Given the description of an element on the screen output the (x, y) to click on. 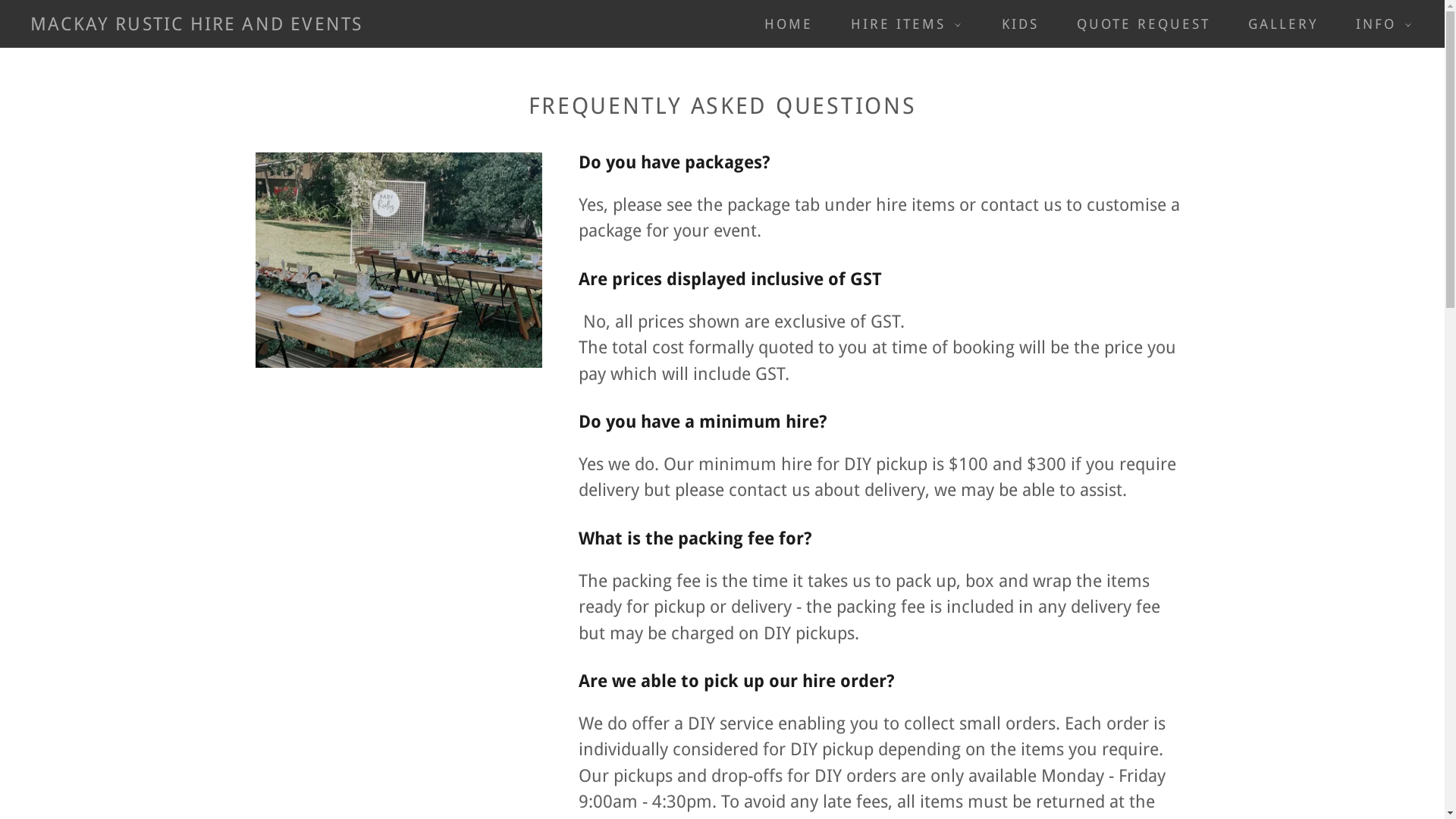
GALLERY Element type: text (1276, 23)
HIRE ITEMS Element type: text (900, 24)
KIDS Element type: text (1013, 23)
MACKAY RUSTIC HIRE AND EVENTS Element type: text (196, 24)
QUOTE REQUEST Element type: text (1136, 23)
HOME Element type: text (781, 23)
INFO Element type: text (1378, 24)
